Given the description of an element on the screen output the (x, y) to click on. 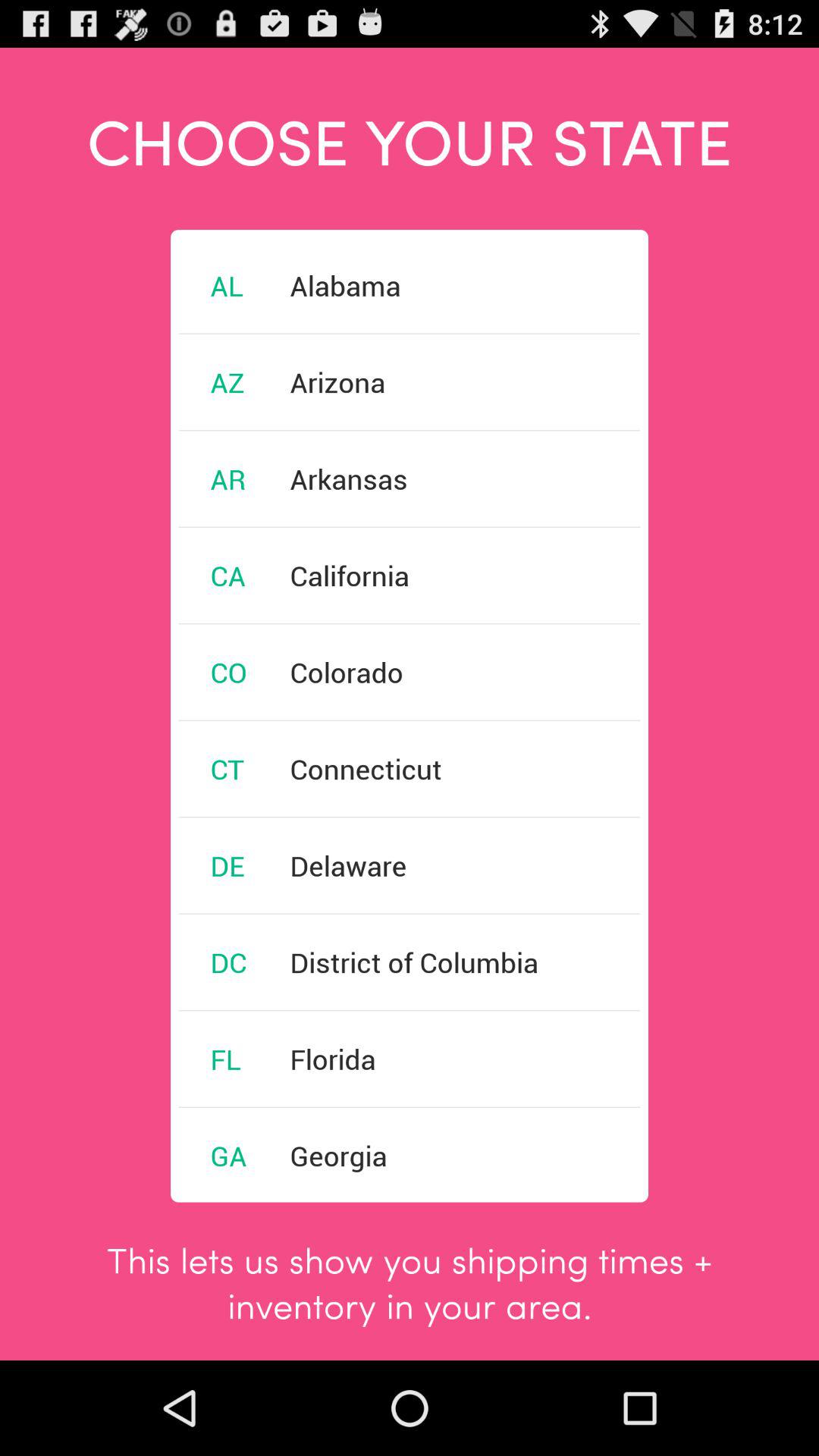
press the icon below the connecticut (348, 865)
